Given the description of an element on the screen output the (x, y) to click on. 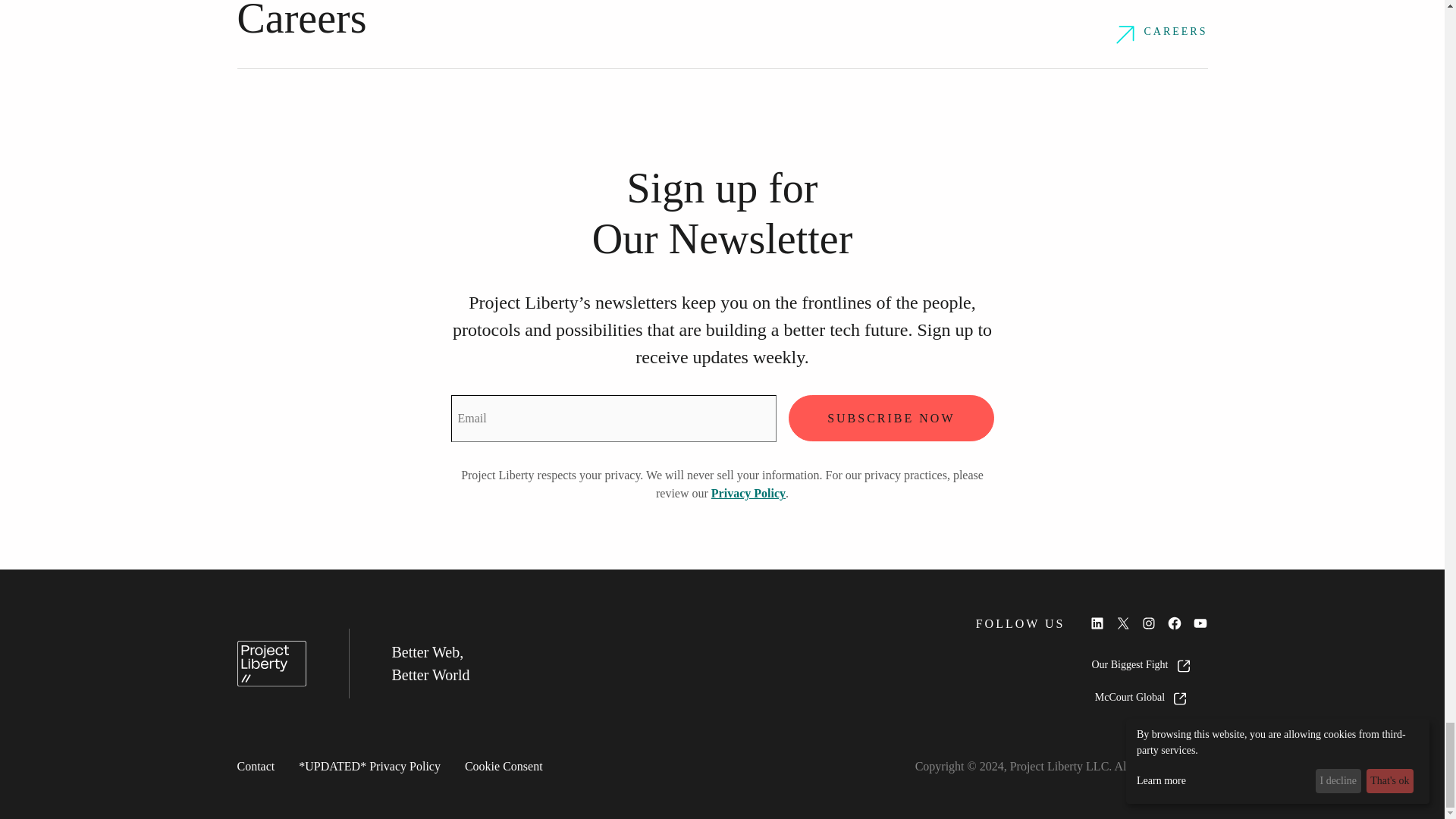
Our Biggest Fight (1140, 666)
McCourt Global (1140, 698)
Subscribe now (890, 417)
Project Liberty (270, 663)
CAREERS (1161, 34)
Subscribe now (890, 417)
Privacy Policy (748, 492)
Contact (255, 766)
Cookie Consent (503, 766)
